Given the description of an element on the screen output the (x, y) to click on. 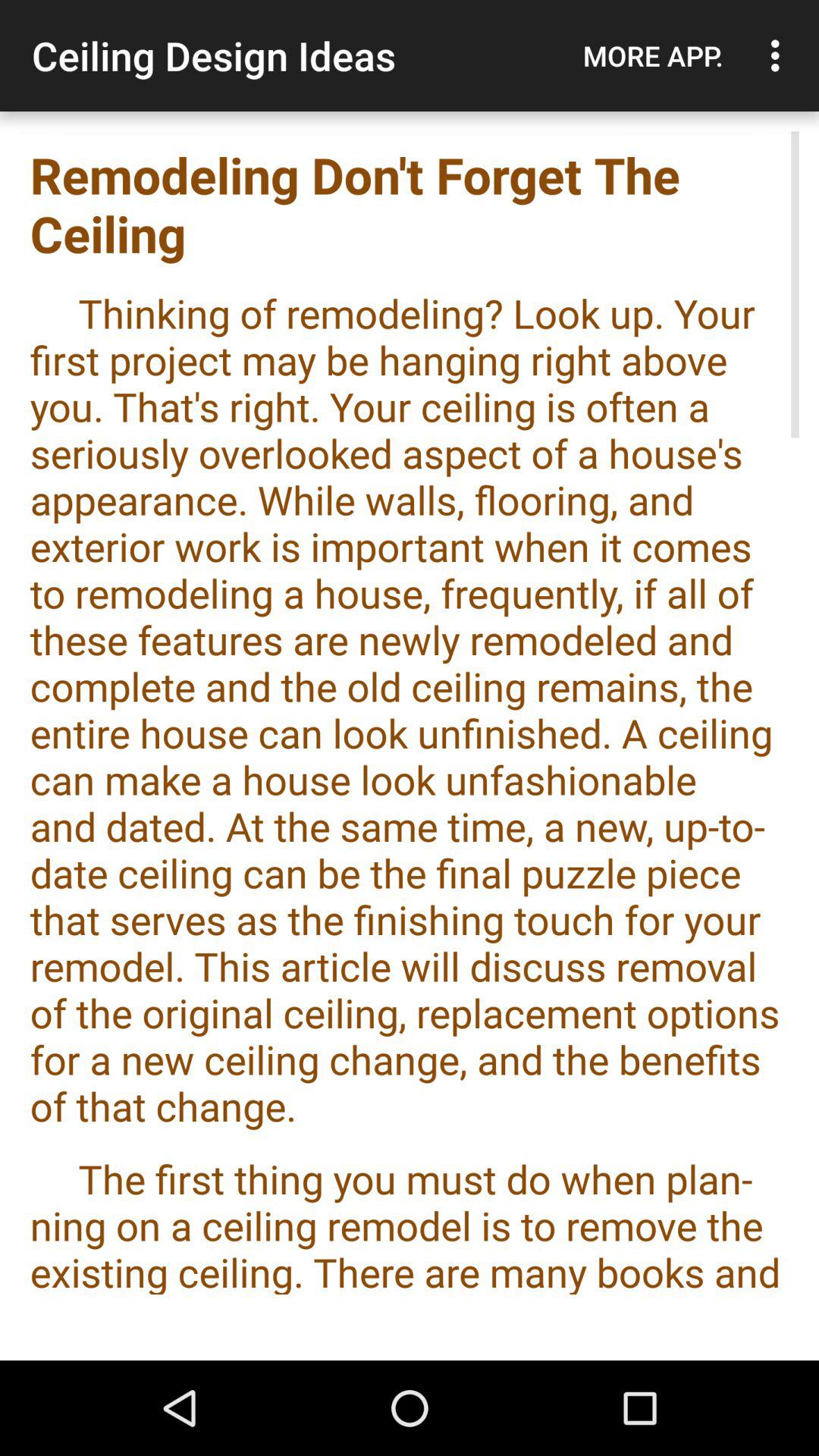
choose icon to the right of ceiling design ideas icon (653, 55)
